Given the description of an element on the screen output the (x, y) to click on. 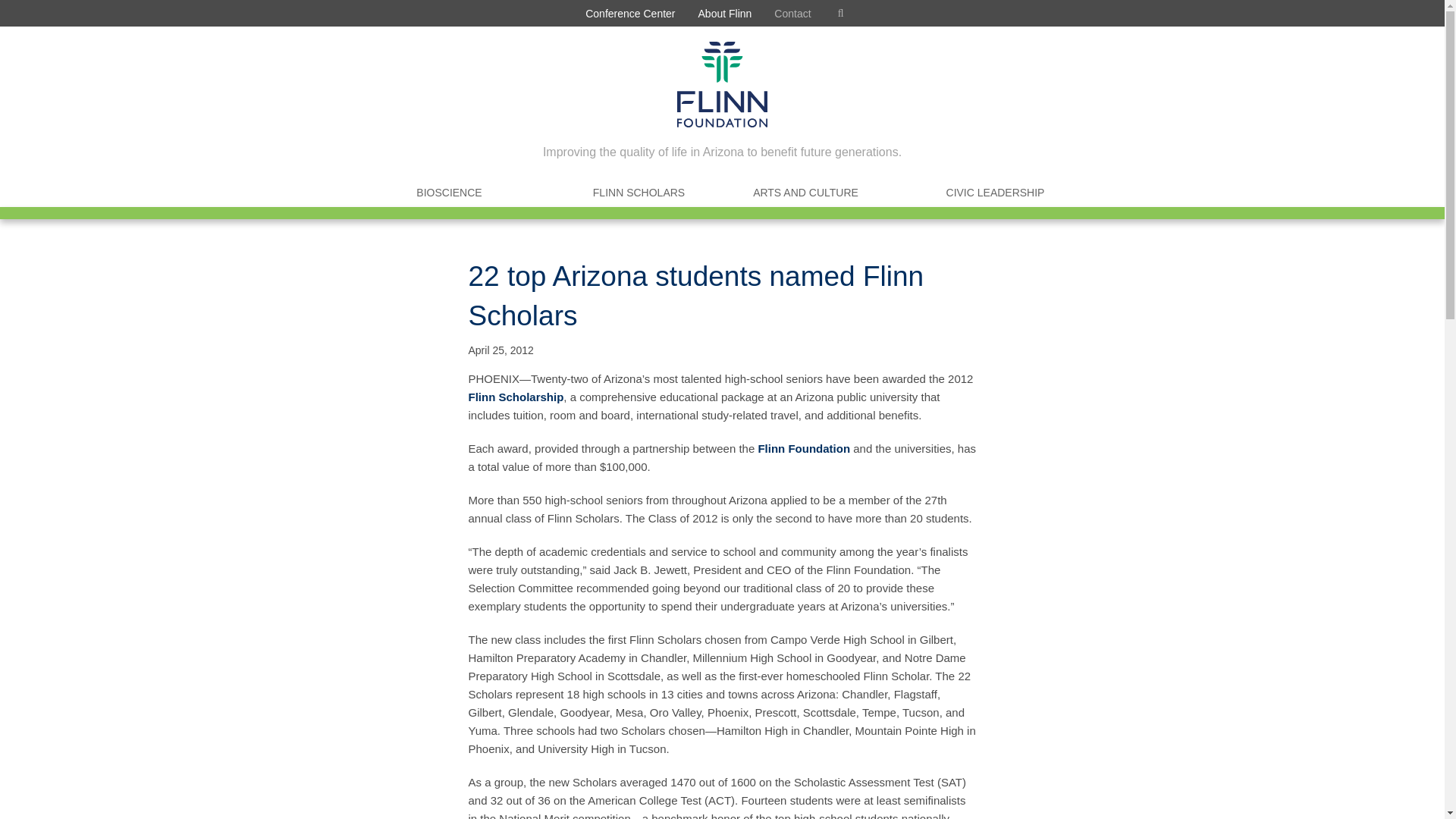
Contact (792, 13)
Conference Center (629, 13)
About Flinn (724, 13)
BIOSCIENCE (448, 192)
